Given the description of an element on the screen output the (x, y) to click on. 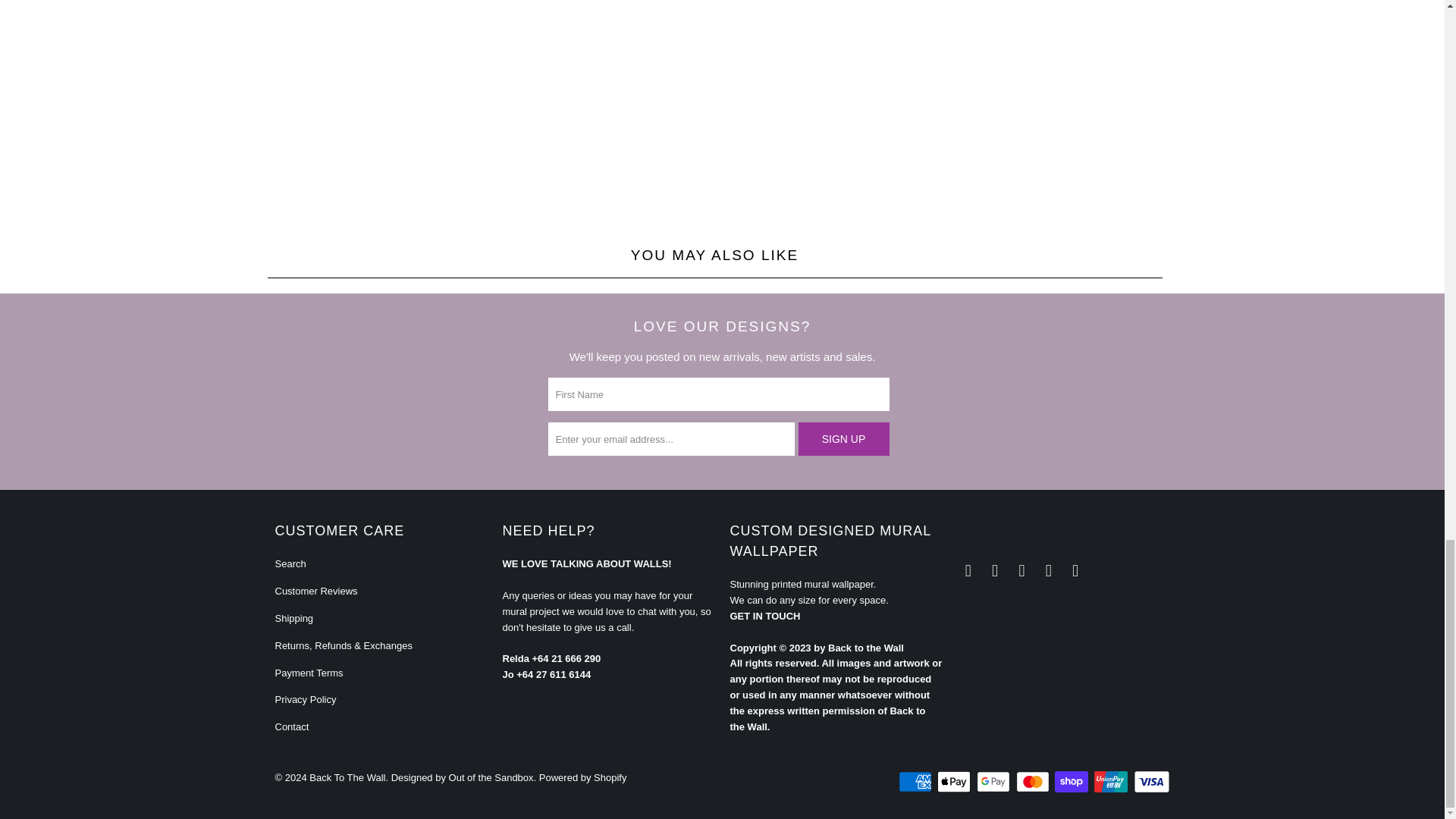
Mastercard (1034, 781)
Union Pay (1112, 781)
Sign Up (842, 438)
Visa (1150, 781)
Apple Pay (955, 781)
Google Pay (994, 781)
American Express (916, 781)
Shop Pay (1072, 781)
